Given the description of an element on the screen output the (x, y) to click on. 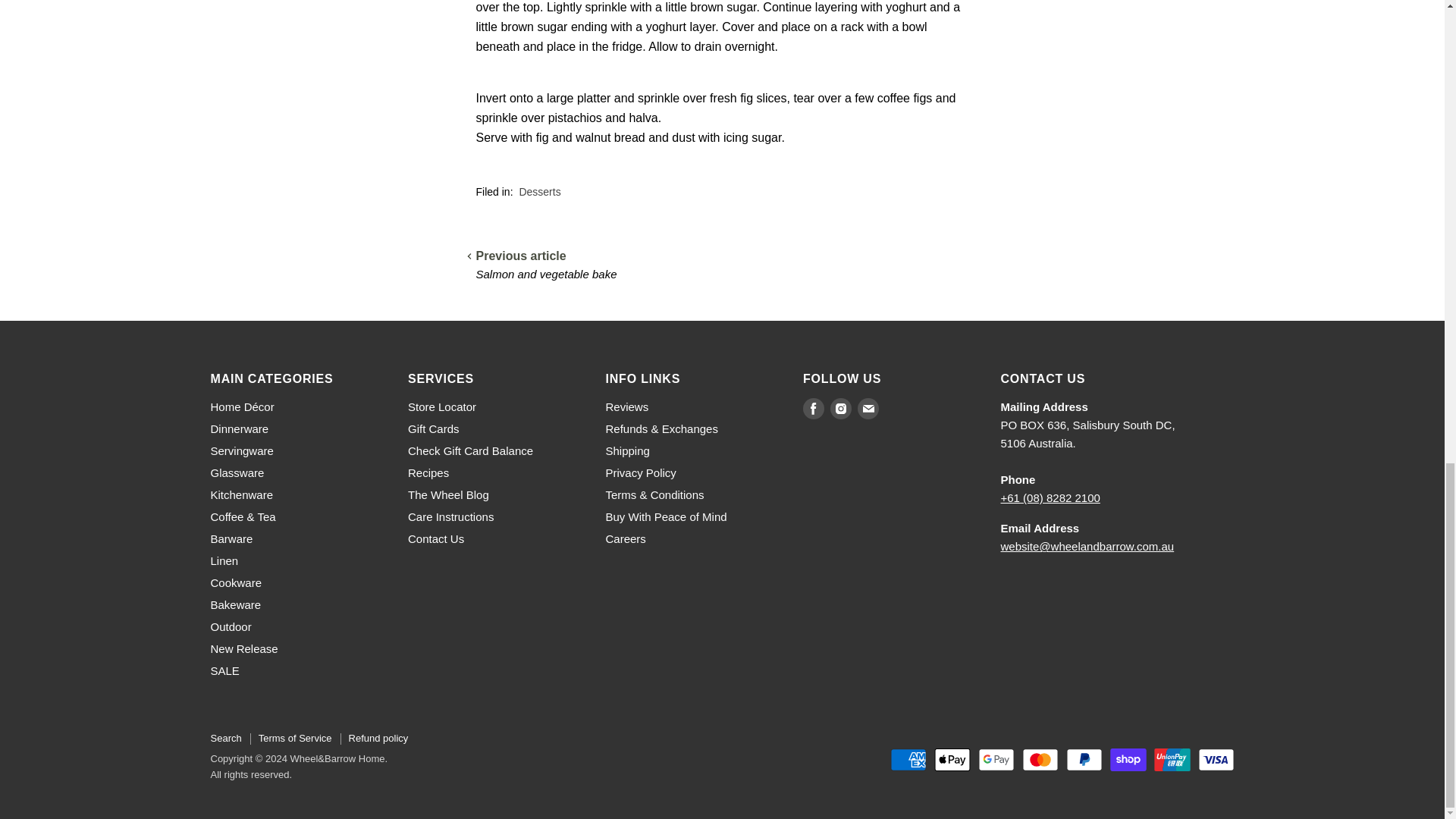
Facebook (813, 408)
Instagram (840, 408)
Email (868, 408)
Show articles tagged Desserts (539, 191)
tel:0882822100 (1050, 497)
